Given the description of an element on the screen output the (x, y) to click on. 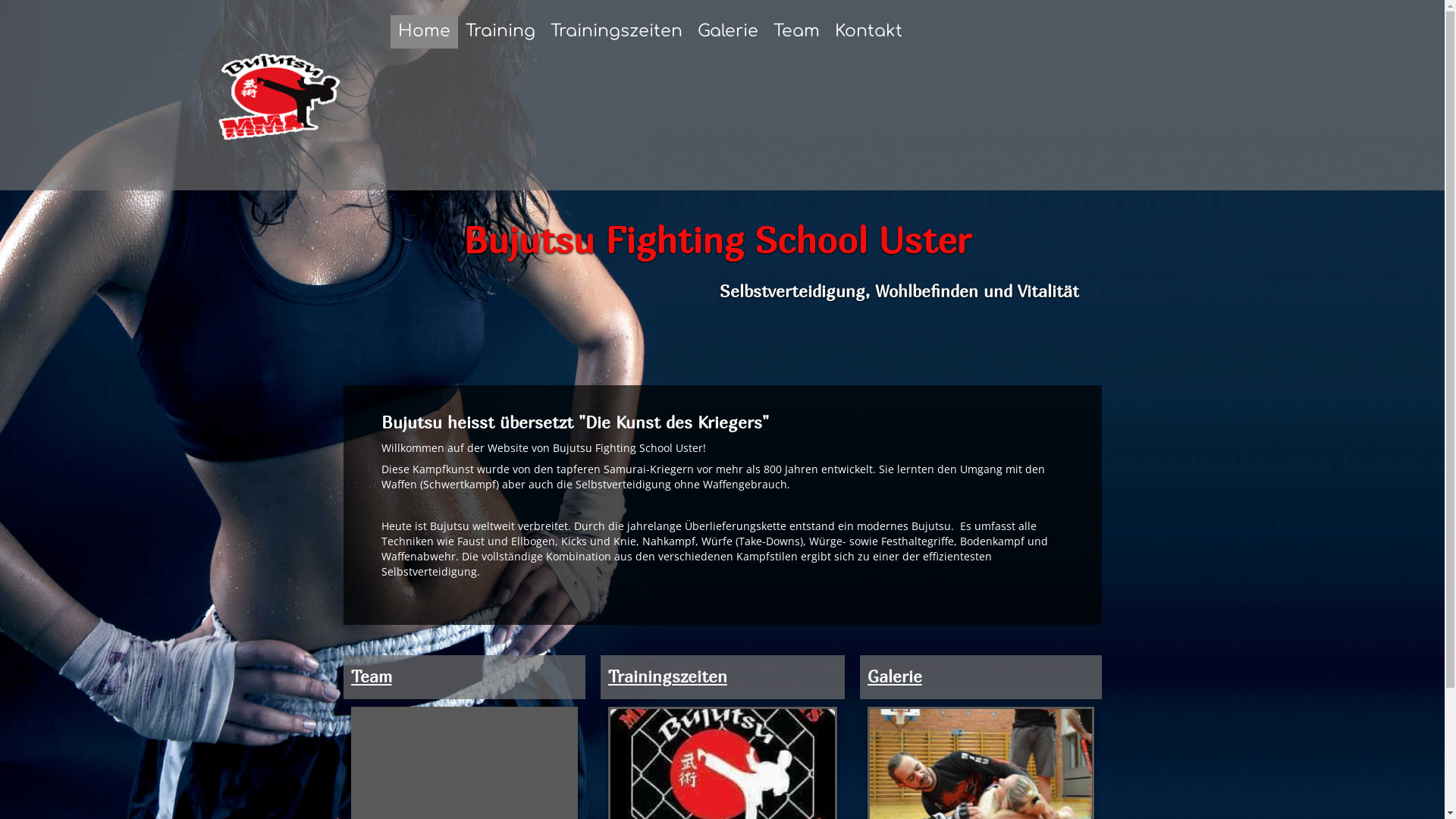
Kontakt Element type: text (868, 31)
Galerie Element type: text (894, 676)
Galerie Element type: text (727, 31)
Training Element type: text (500, 31)
Home Element type: text (424, 31)
Team Element type: text (796, 31)
Trainingszeiten Element type: text (616, 31)
Team Element type: text (370, 676)
Trainingszeiten Element type: text (667, 676)
